Given the description of an element on the screen output the (x, y) to click on. 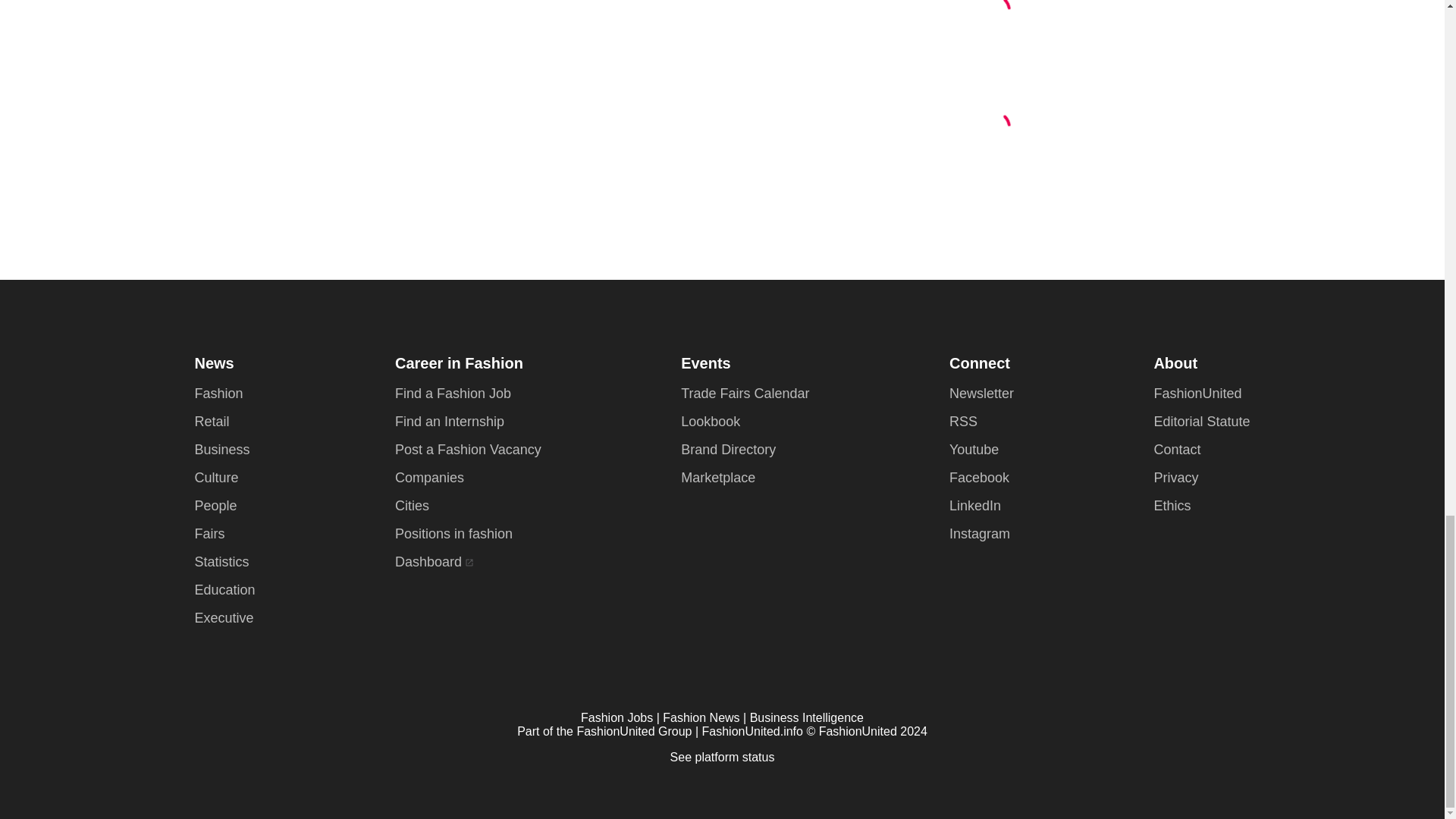
Find an Internship (448, 421)
Lookbook (710, 421)
Culture (427, 561)
Newsletter (215, 477)
Marketplace (981, 393)
Cities (718, 477)
Trade Fairs Calendar (411, 505)
Fairs (745, 393)
Fashion (208, 533)
People (218, 393)
Positions in fashion (214, 505)
Executive (453, 533)
Youtube (223, 617)
LinkedIn (973, 449)
